Given the description of an element on the screen output the (x, y) to click on. 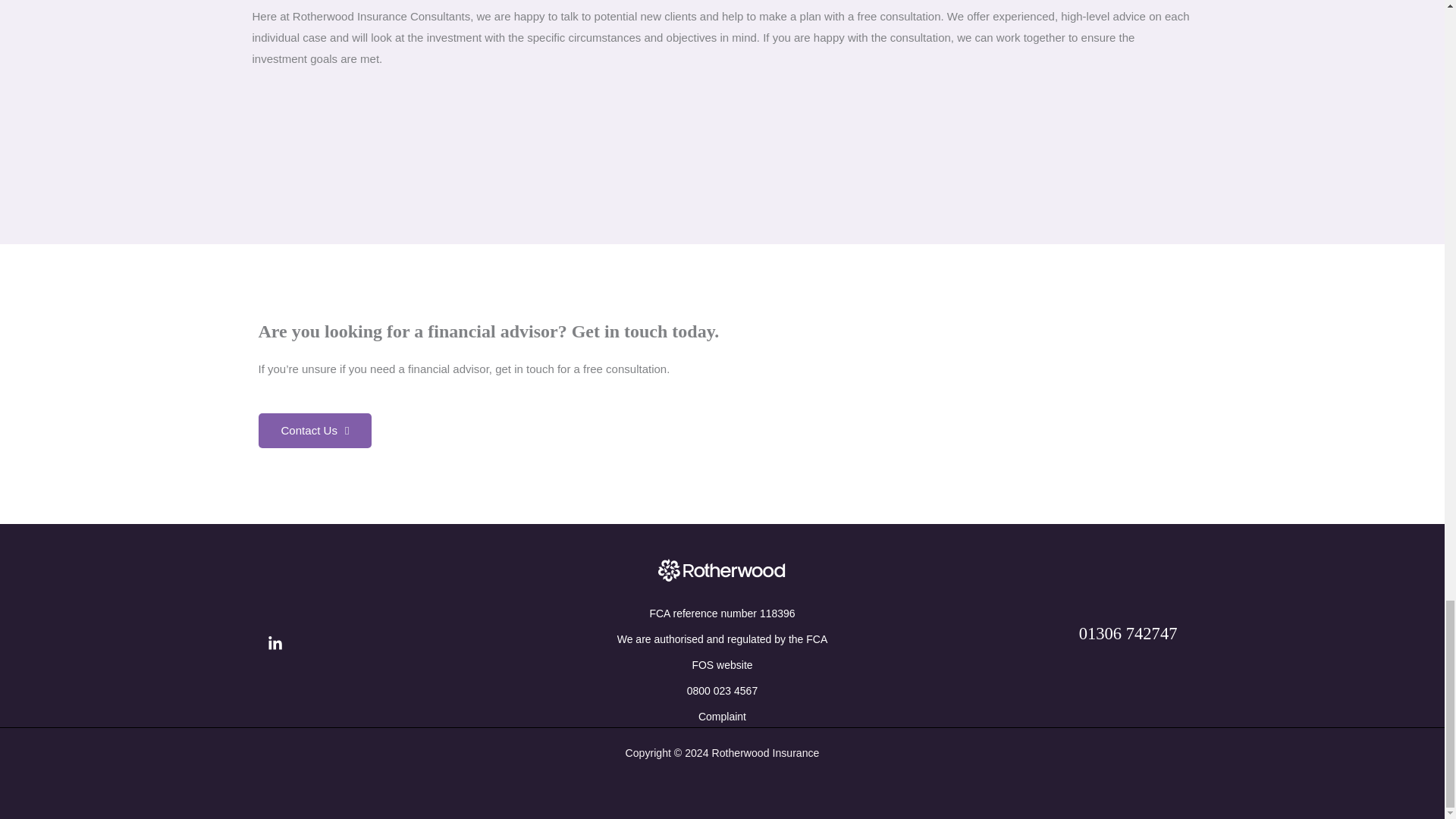
0800 023 4567 (722, 690)
Contact Us (314, 430)
FOS website (721, 664)
Complaint (721, 716)
